Given the description of an element on the screen output the (x, y) to click on. 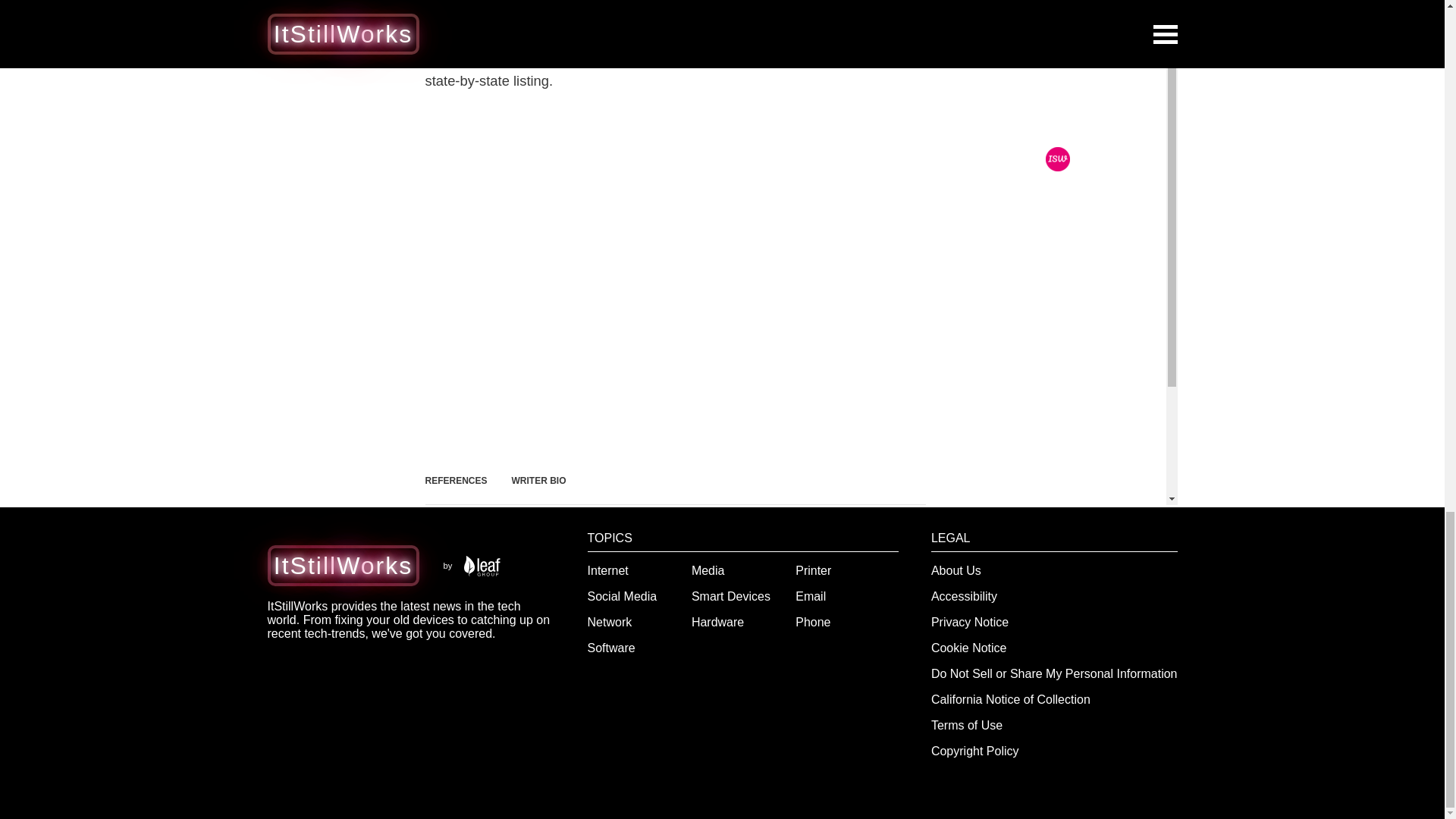
Media (708, 570)
Social Media (623, 595)
Internet (608, 570)
Printer (812, 570)
Privacy Notice (970, 621)
Cookie Notice (969, 647)
Terms of Use (967, 725)
California Notice of Collection (1010, 698)
Email (809, 595)
Accessibility (964, 595)
Smart Devices (730, 595)
ItStillWorks (342, 565)
Copyright Policy (975, 750)
Software (611, 647)
Hardware (717, 621)
